Given the description of an element on the screen output the (x, y) to click on. 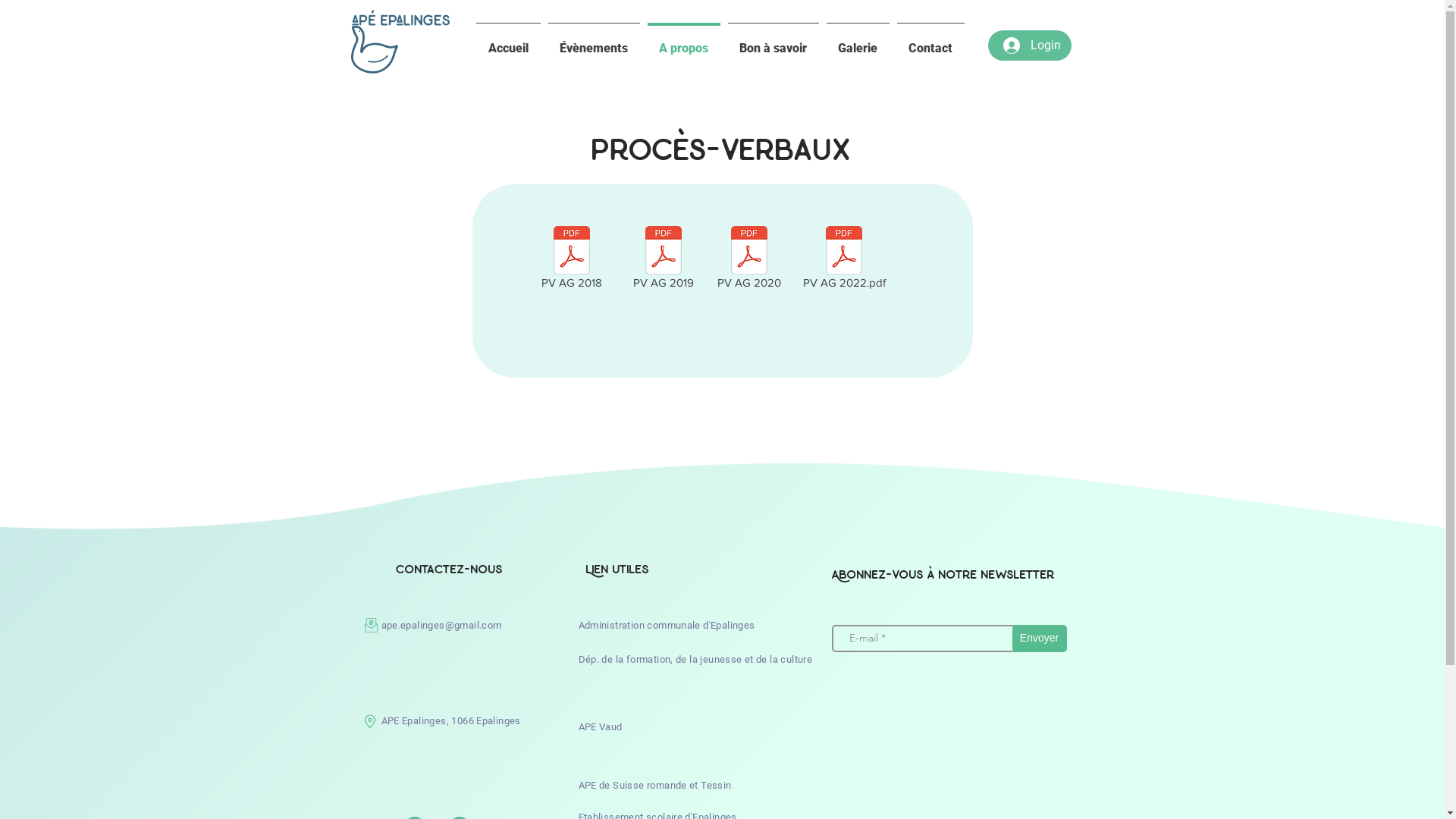
Administration communale d'Epalinges Element type: text (665, 624)
ape.epalinges@gmail.com Element type: text (440, 624)
Login Element type: text (1030, 45)
1066 Epalinges Element type: text (485, 720)
PV AG 2018 Element type: text (571, 259)
APE de Suisse romande et Tessin Element type: text (654, 784)
PV AG 2022.pdf Element type: text (843, 259)
PV AG 2020 Element type: text (748, 259)
APE Vaud Element type: text (599, 726)
Accueil Element type: text (507, 41)
APE Epalinges,  Element type: text (415, 720)
A propos Element type: text (683, 41)
Envoyer Element type: text (1038, 638)
Galerie Element type: text (857, 41)
PV AG 2019 Element type: text (662, 259)
Contact Element type: text (930, 41)
